Given the description of an element on the screen output the (x, y) to click on. 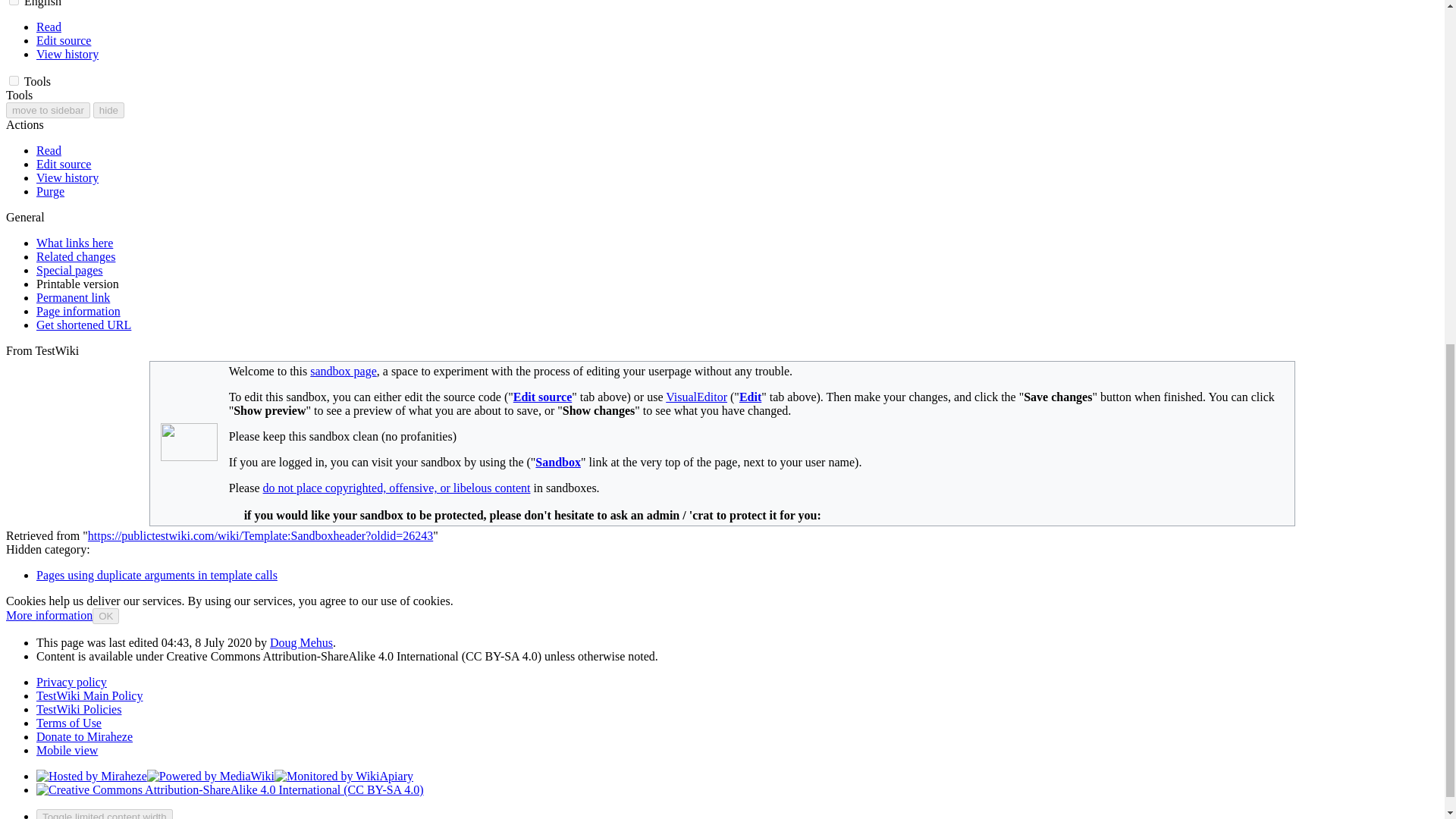
move to sidebar (47, 109)
Page information (78, 310)
on (13, 80)
Edit source (63, 40)
Related changes (75, 256)
Permanent link (73, 297)
hide (108, 109)
Edit source (63, 164)
Special pages (69, 269)
Get shortened URL (83, 324)
on (13, 2)
View history (67, 53)
Read (48, 150)
What links here (74, 242)
Purge (50, 191)
